Given the description of an element on the screen output the (x, y) to click on. 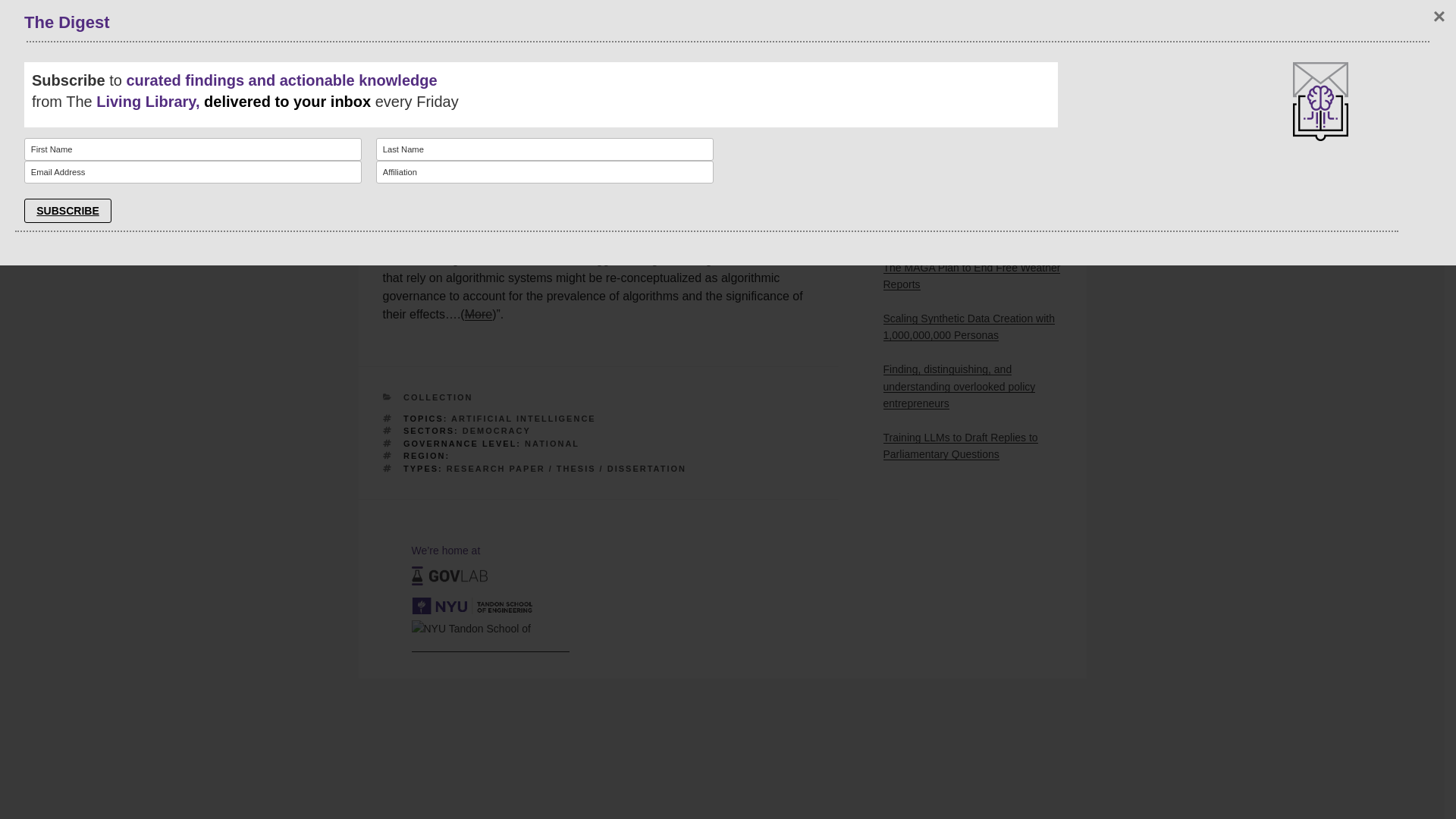
ARTIFICIAL INTELLIGENCE (523, 418)
LinkedIn (928, 86)
Training LLMs to Draft Replies to Parliamentary Questions (959, 445)
RSS (919, 116)
  Facebook (933, 26)
More (478, 314)
Article (400, 41)
COLLECTION (438, 397)
THE LIVING LIBRARY (1117, 6)
NATIONAL (551, 442)
DEMOCRACY (497, 429)
The MAGA Plan to End Free Weather Reports (970, 275)
November 16, 2020 (472, 3)
Bringing Communities In, Achieving AI for All (972, 224)
SUBSCRIBE (68, 15)
